Given the description of an element on the screen output the (x, y) to click on. 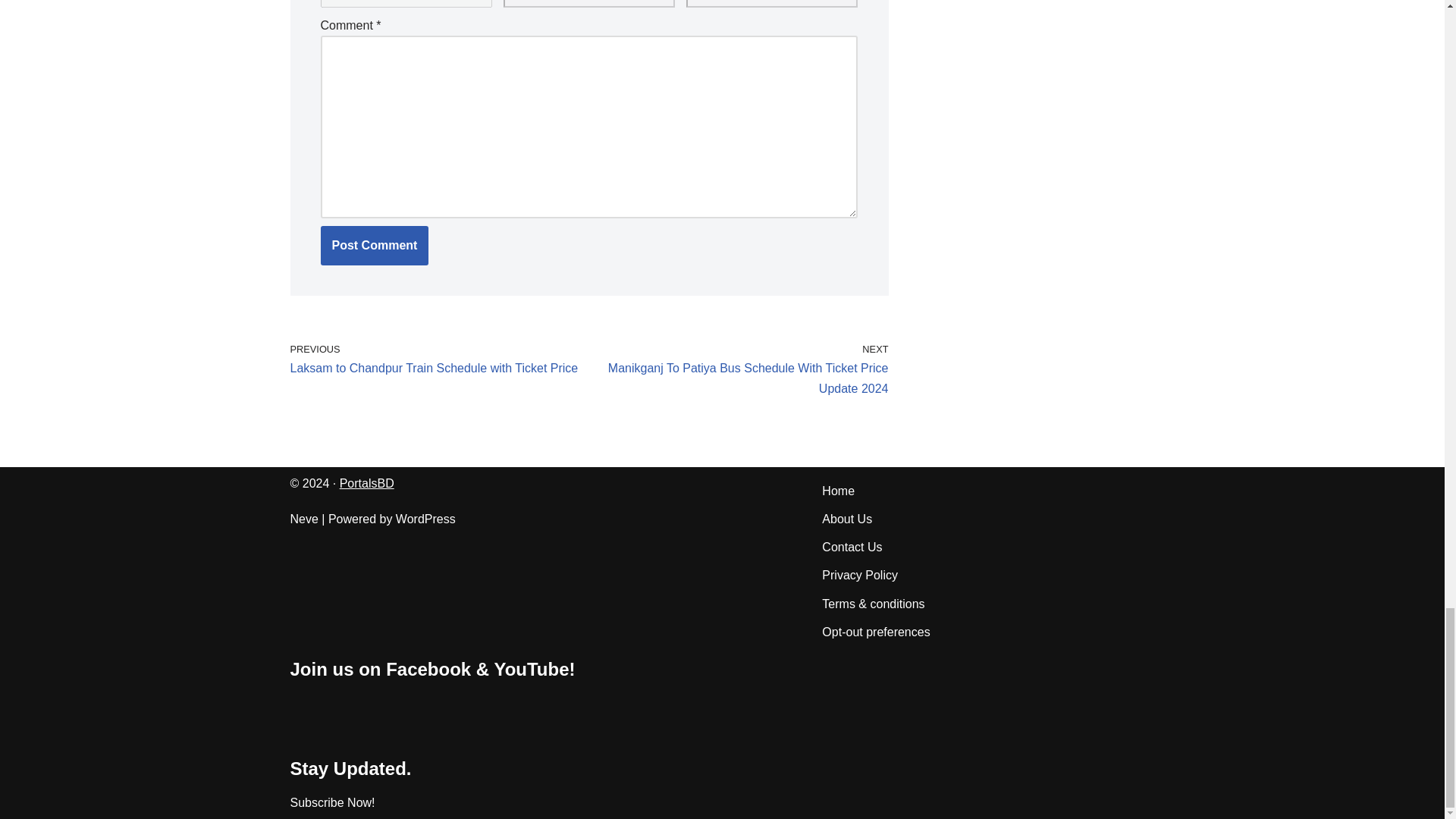
Post Comment (374, 245)
